Given the description of an element on the screen output the (x, y) to click on. 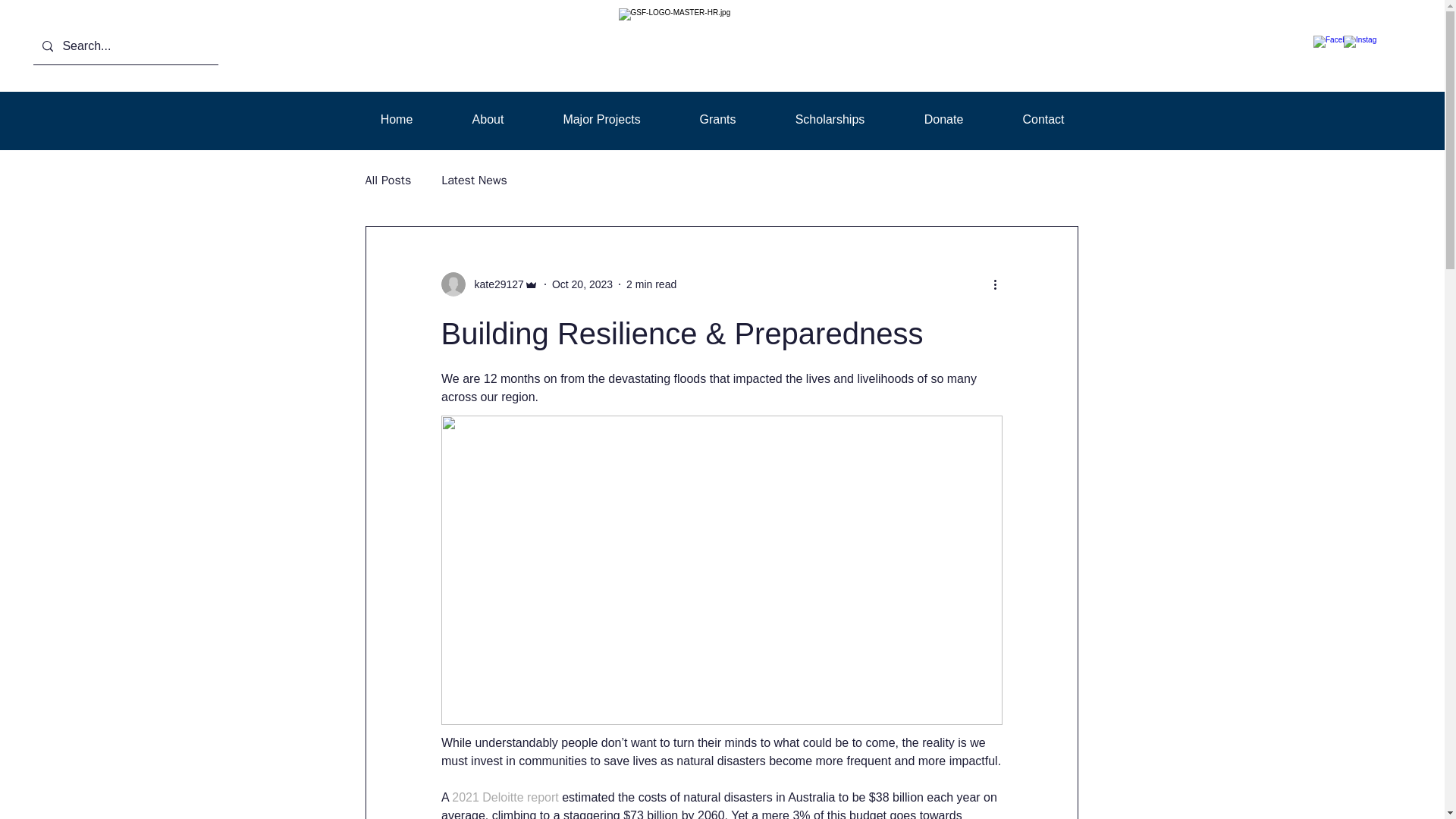
Oct 20, 2023 (581, 283)
kate29127 (489, 283)
Contact (1043, 119)
Donate (943, 119)
2021 Deloitte report (505, 797)
Home (396, 119)
Major Projects (601, 119)
Latest News (473, 180)
All Posts (388, 180)
2 min read (651, 283)
kate29127 (494, 283)
Grants (717, 119)
About (488, 119)
Scholarships (830, 119)
